Given the description of an element on the screen output the (x, y) to click on. 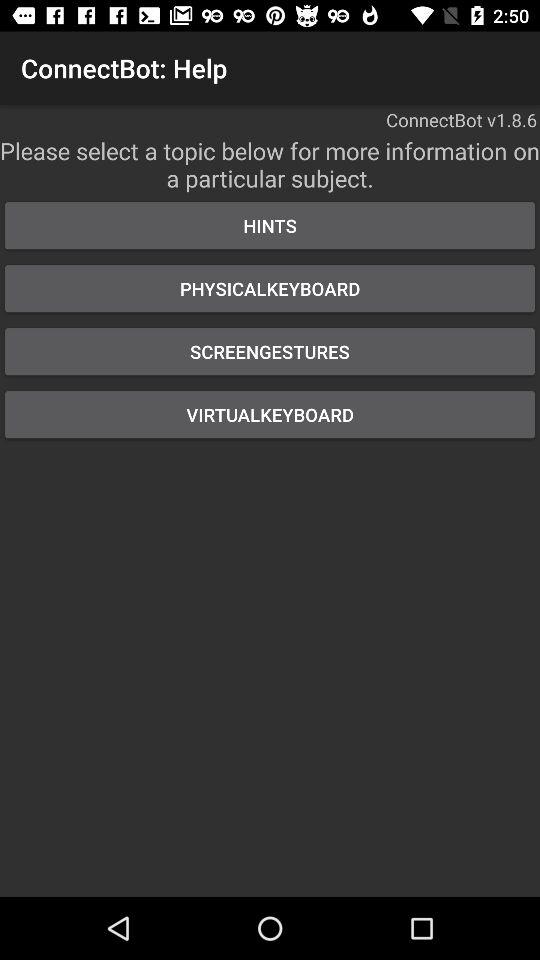
choose the icon above screengestures (270, 288)
